Given the description of an element on the screen output the (x, y) to click on. 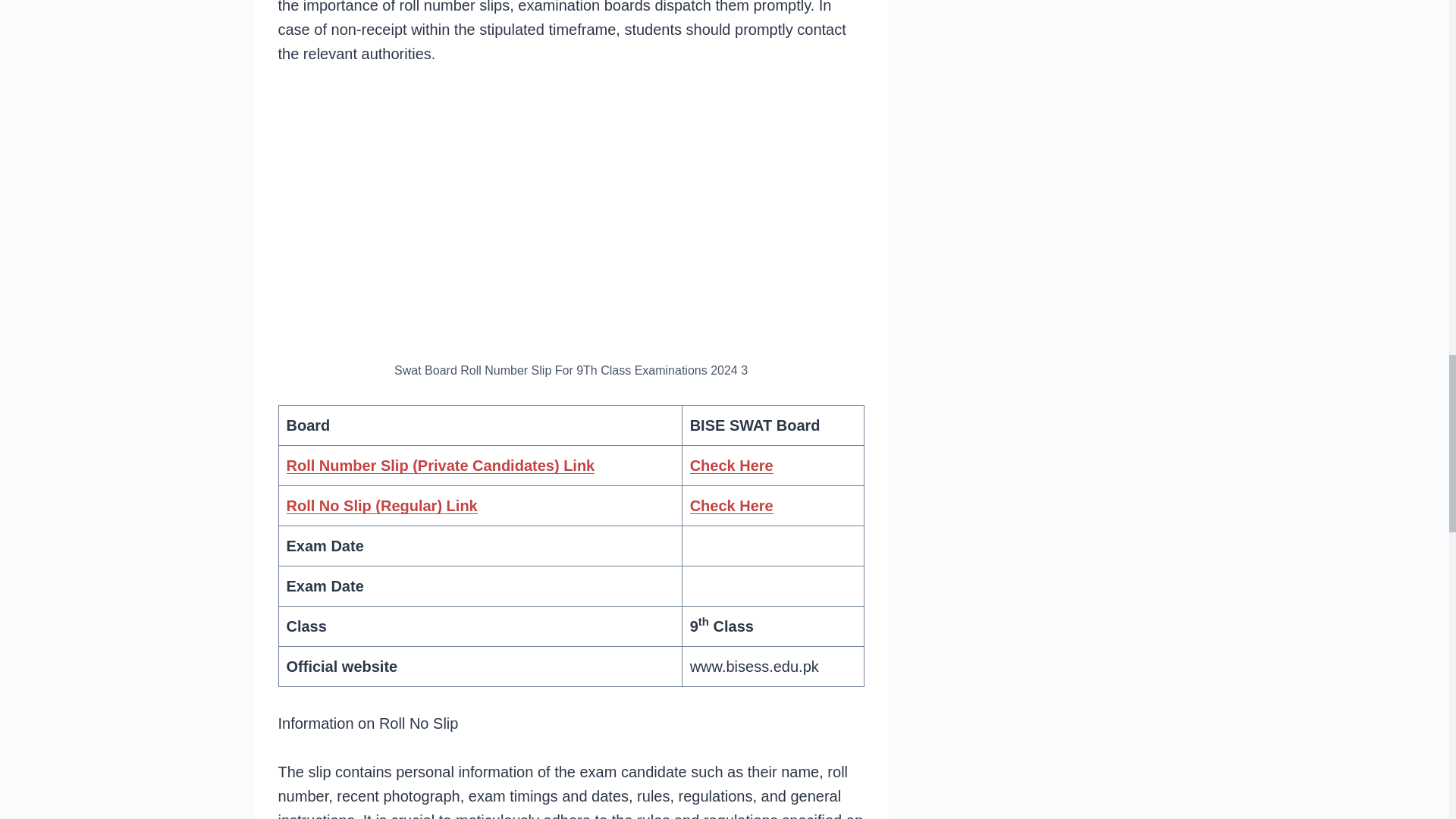
Check Here (731, 505)
Check Here (731, 465)
